Given the description of an element on the screen output the (x, y) to click on. 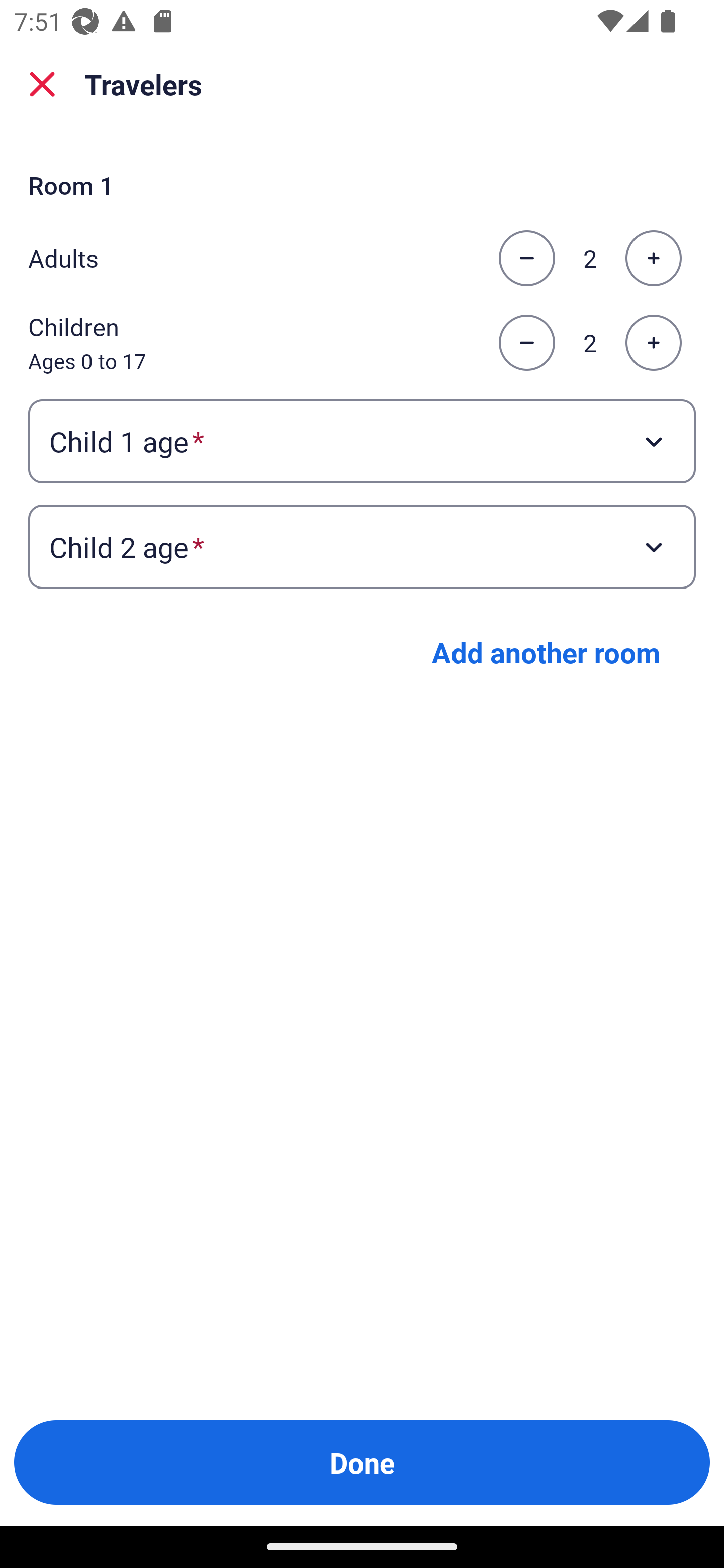
close (42, 84)
Decrease the number of adults (526, 258)
Increase the number of adults (653, 258)
Decrease the number of children (526, 343)
Increase the number of children (653, 343)
Child 1 age required Button (361, 440)
Child 2 age required Button (361, 546)
Add another room (545, 651)
Done (361, 1462)
